Given the description of an element on the screen output the (x, y) to click on. 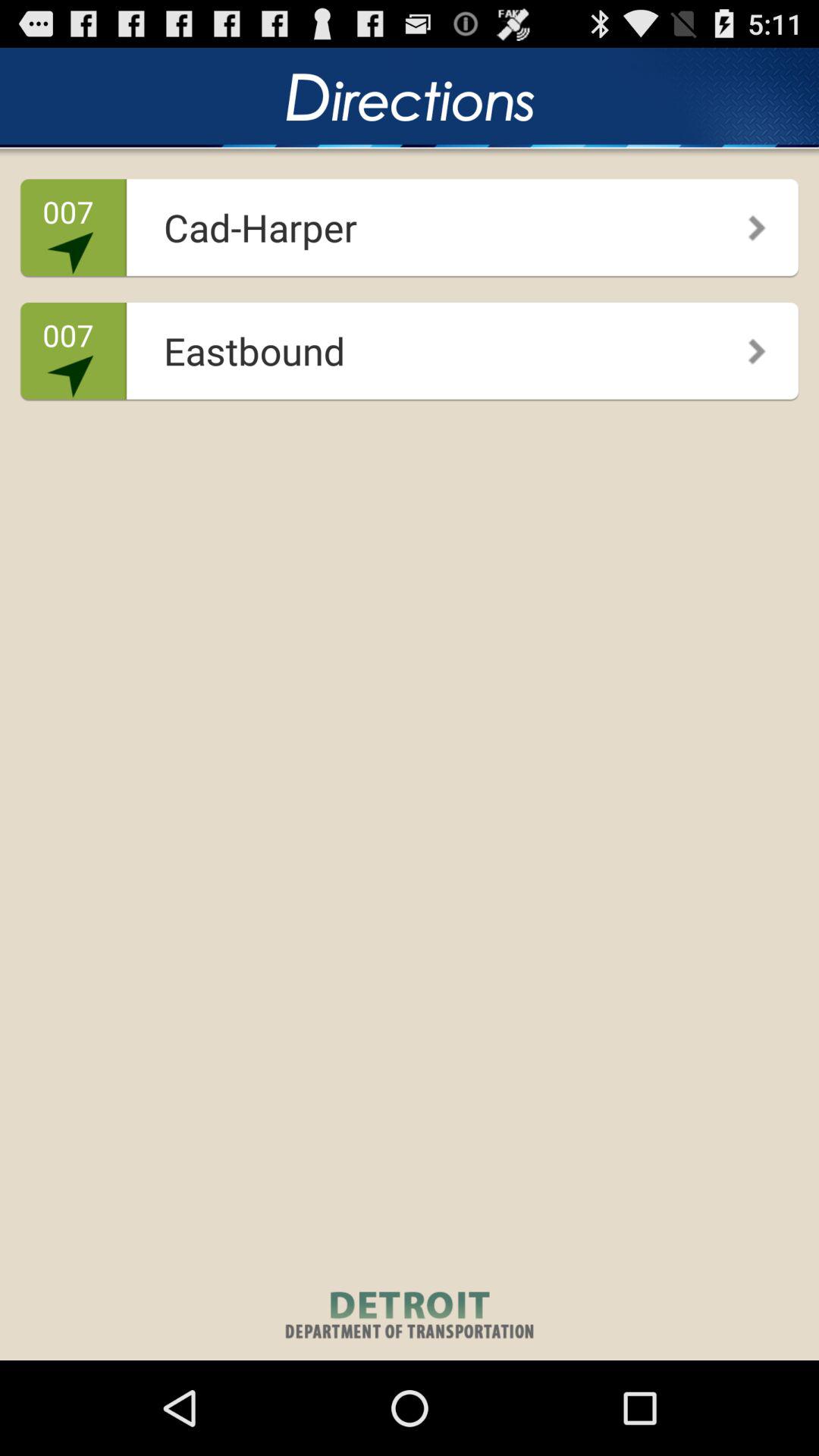
turn off app next to the cad-harper item (746, 222)
